Given the description of an element on the screen output the (x, y) to click on. 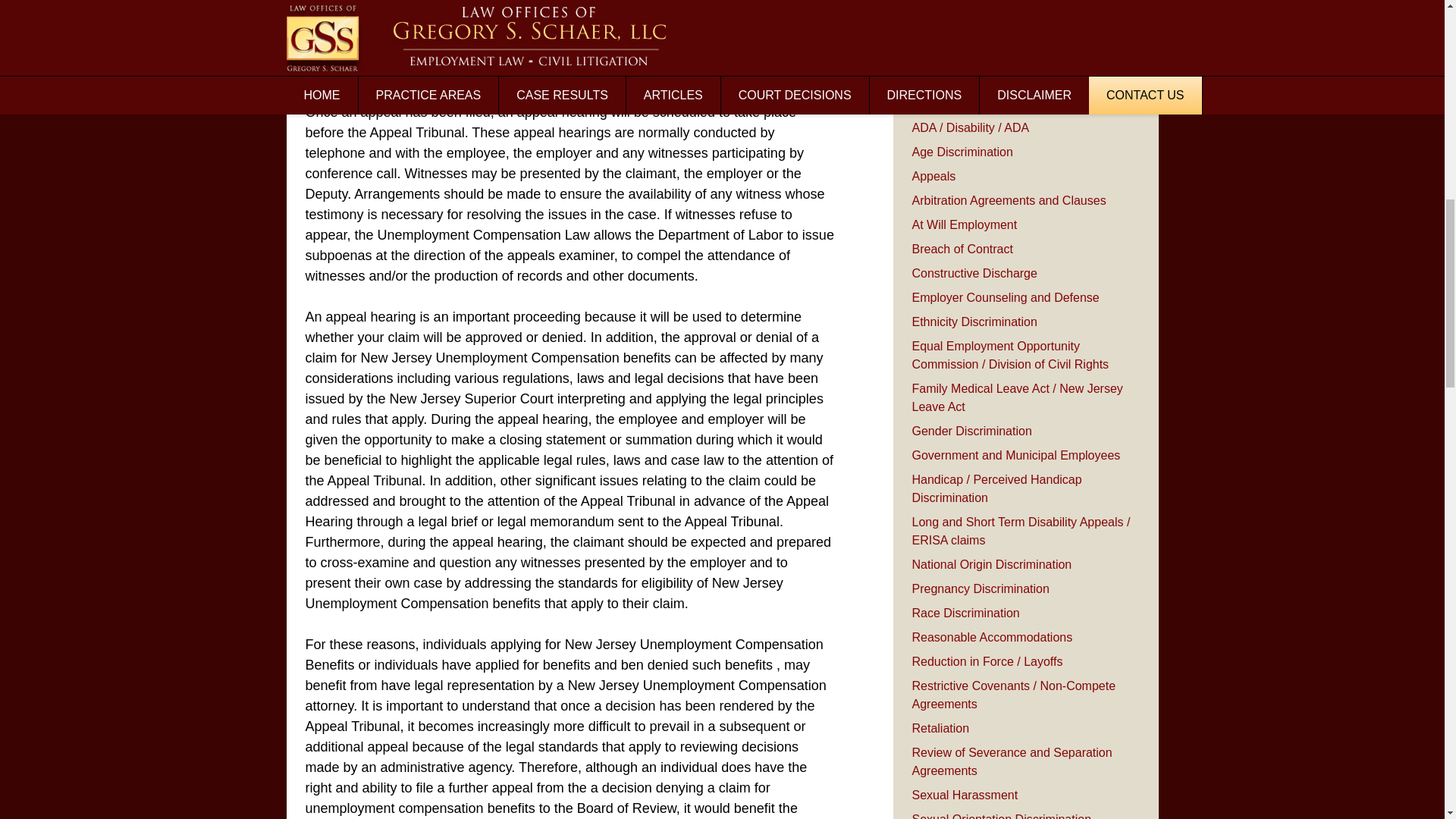
Reasonable Accommodations (991, 636)
Pregnancy Discrimination (979, 588)
National Origin Discrimination (991, 563)
CONTACT US NOW (1024, 4)
Gender Discrimination (970, 431)
Arbitration Agreements and Clauses (1008, 200)
Age Discrimination (961, 151)
PRACTICE AREAS (978, 83)
Race Discrimination (965, 612)
Appeals (933, 175)
Ethnicity Discrimination (973, 321)
Government and Municipal Employees (1015, 454)
At Will Employment (963, 224)
Constructive Discharge (973, 273)
Breach of Contract (961, 248)
